Given the description of an element on the screen output the (x, y) to click on. 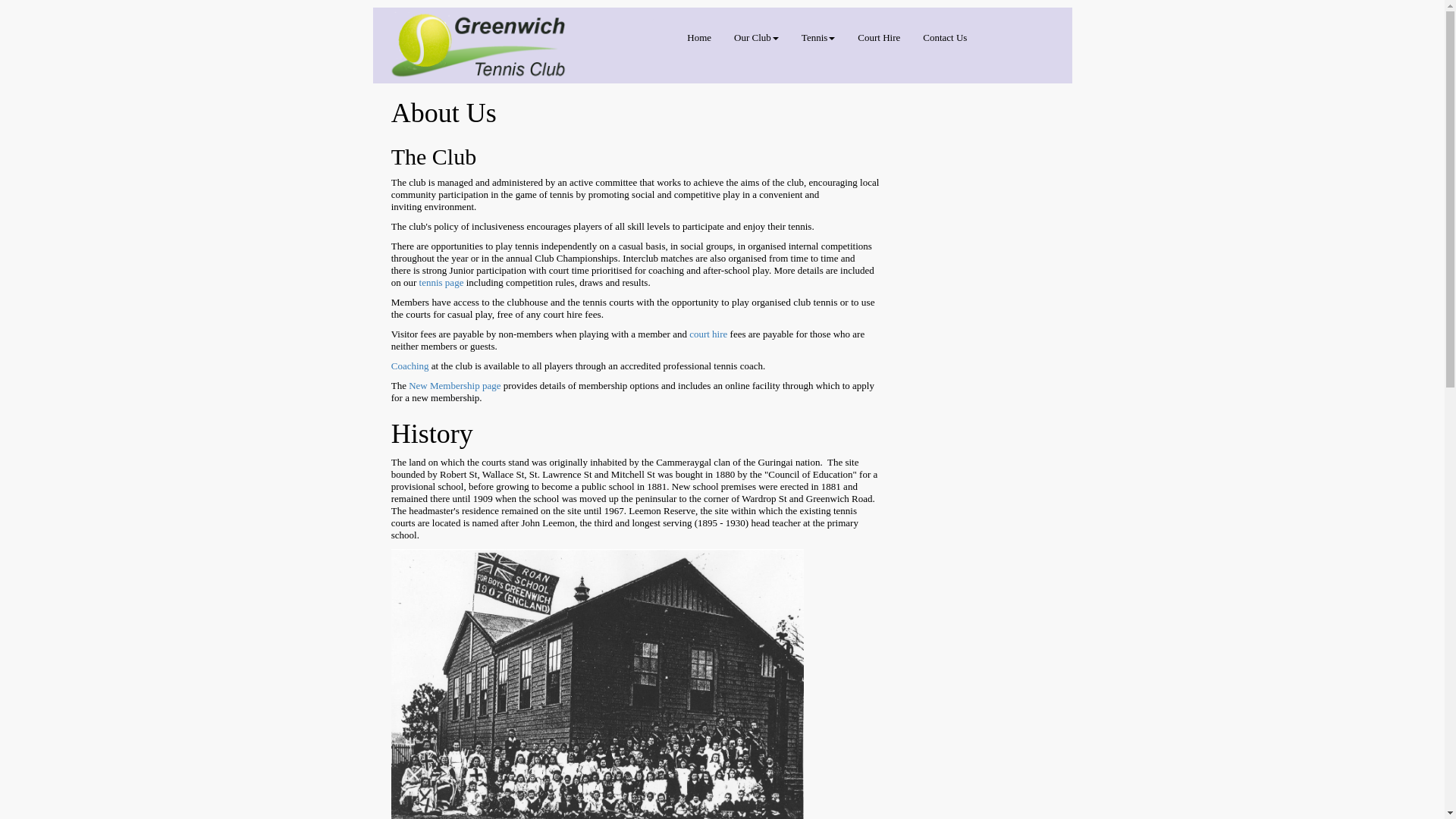
New Membership page Element type: text (455, 385)
tennis page Element type: text (441, 282)
Court Hire Element type: text (878, 37)
Coaching Element type: text (410, 365)
court hire Element type: text (709, 333)
Our Club Element type: text (756, 37)
Tennis Element type: text (818, 37)
Home Element type: text (698, 37)
  Element type: text (430, 365)
Contact Us Element type: text (944, 37)
